Given the description of an element on the screen output the (x, y) to click on. 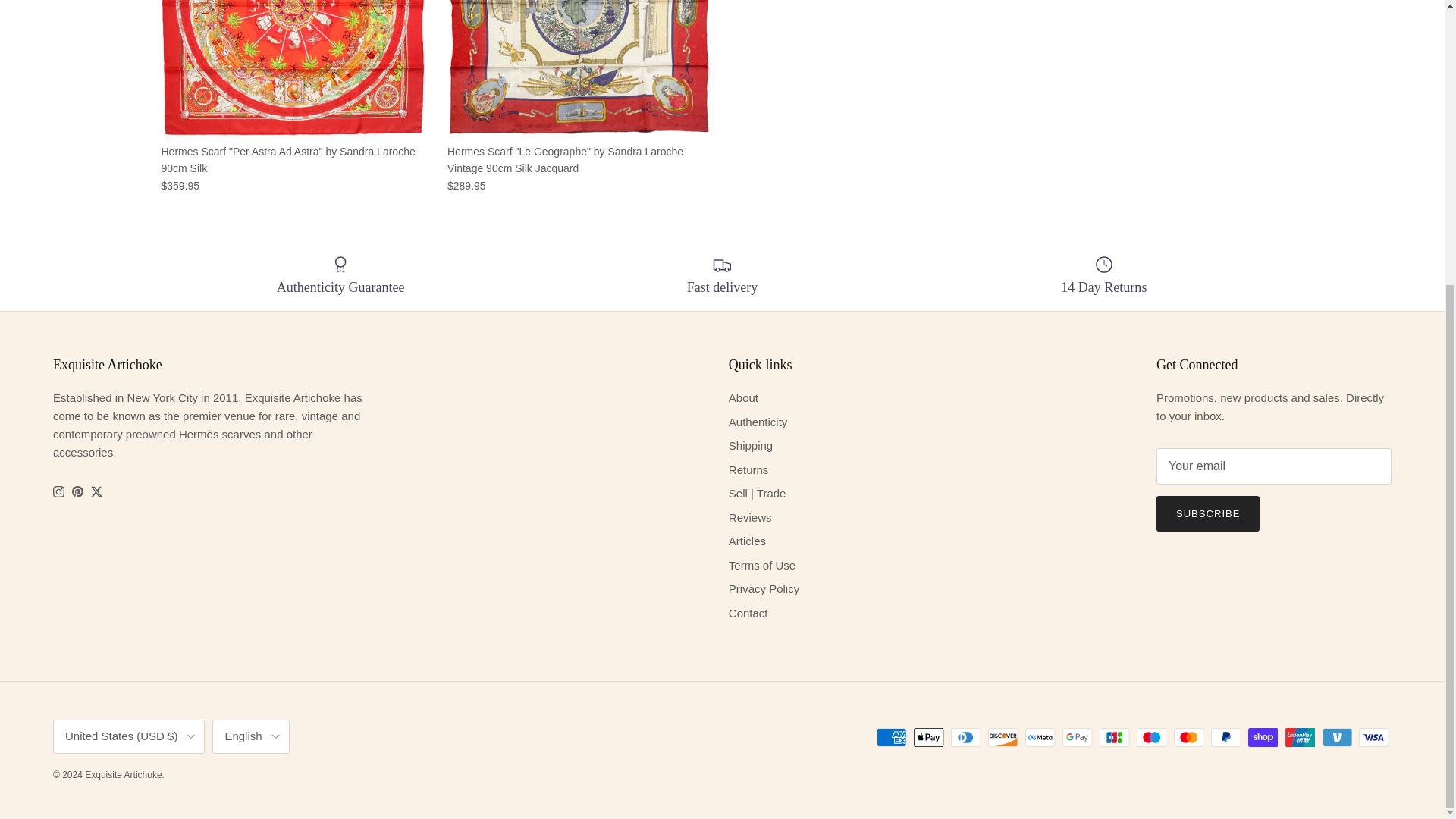
Exquisite Artichoke on Pinterest (76, 491)
Exquisite Artichoke on Instagram (58, 491)
Google Pay (1077, 737)
Apple Pay (928, 737)
Diners Club (965, 737)
American Express (891, 737)
Meta Pay (1040, 737)
Exquisite Artichoke on Twitter (95, 491)
Discover (1002, 737)
